Given the description of an element on the screen output the (x, y) to click on. 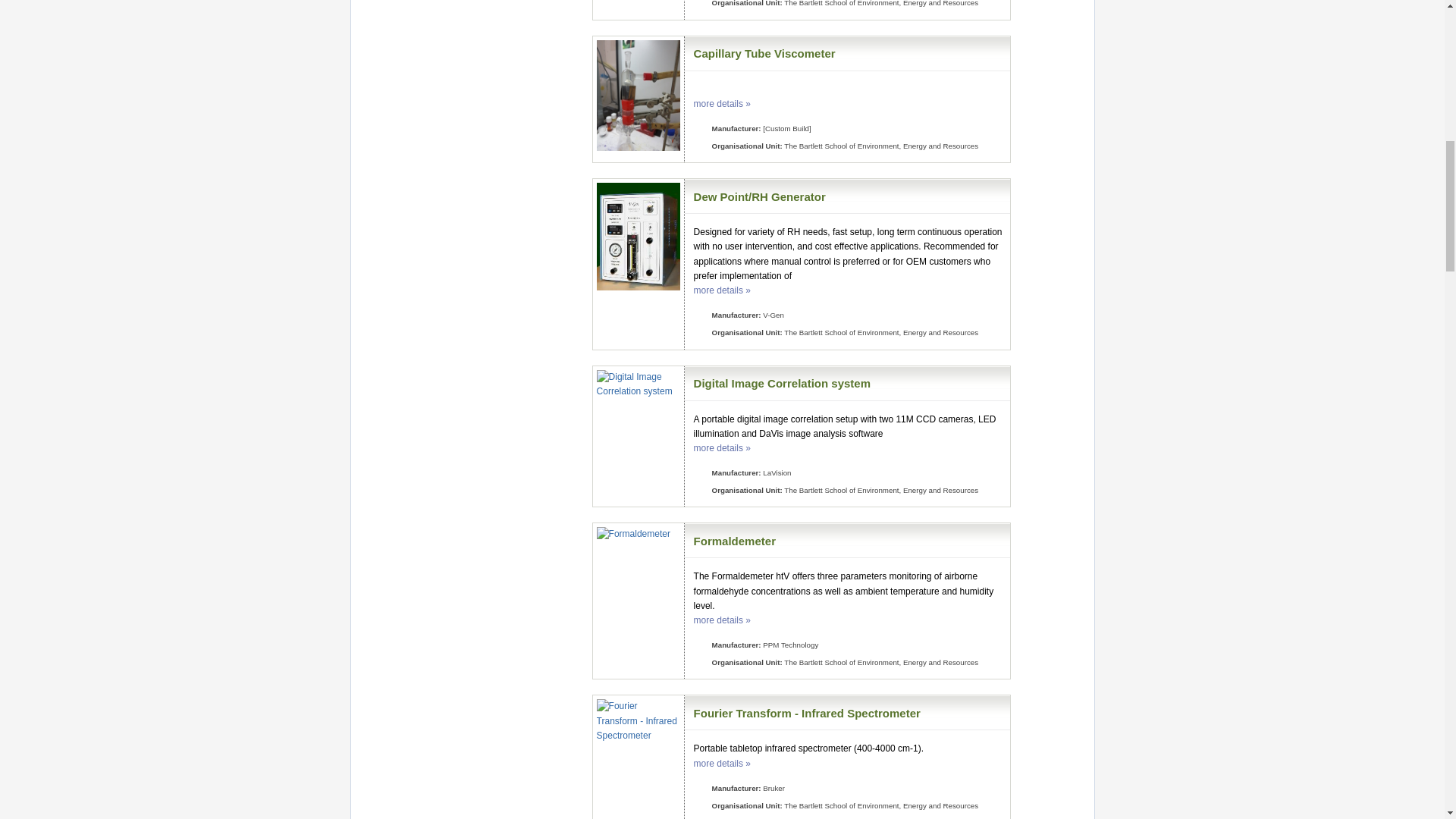
Digital Image Correlation system (782, 382)
Fourier Transform - Infrared Spectrometer (807, 712)
Formaldemeter (735, 540)
Capillary Tube Viscometer (764, 52)
Digital Image Correlation system (782, 382)
Formaldemeter (735, 540)
Fourier Transform - Infrared Spectrometer (807, 712)
Capillary Tube Viscometer (764, 52)
